Given the description of an element on the screen output the (x, y) to click on. 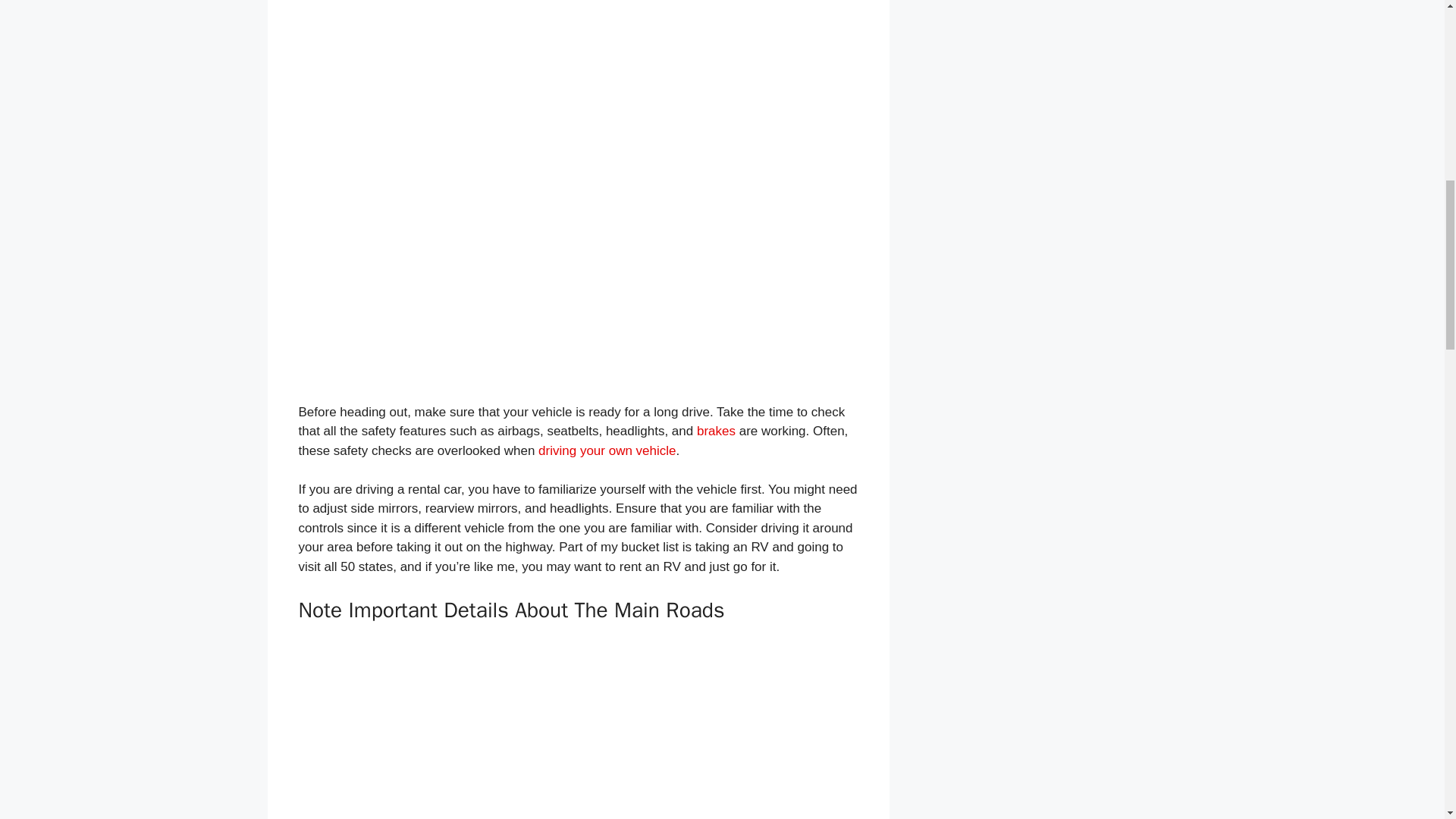
brakes (716, 431)
driving-on-highway (578, 736)
driving your own vehicle (606, 450)
